Given the description of an element on the screen output the (x, y) to click on. 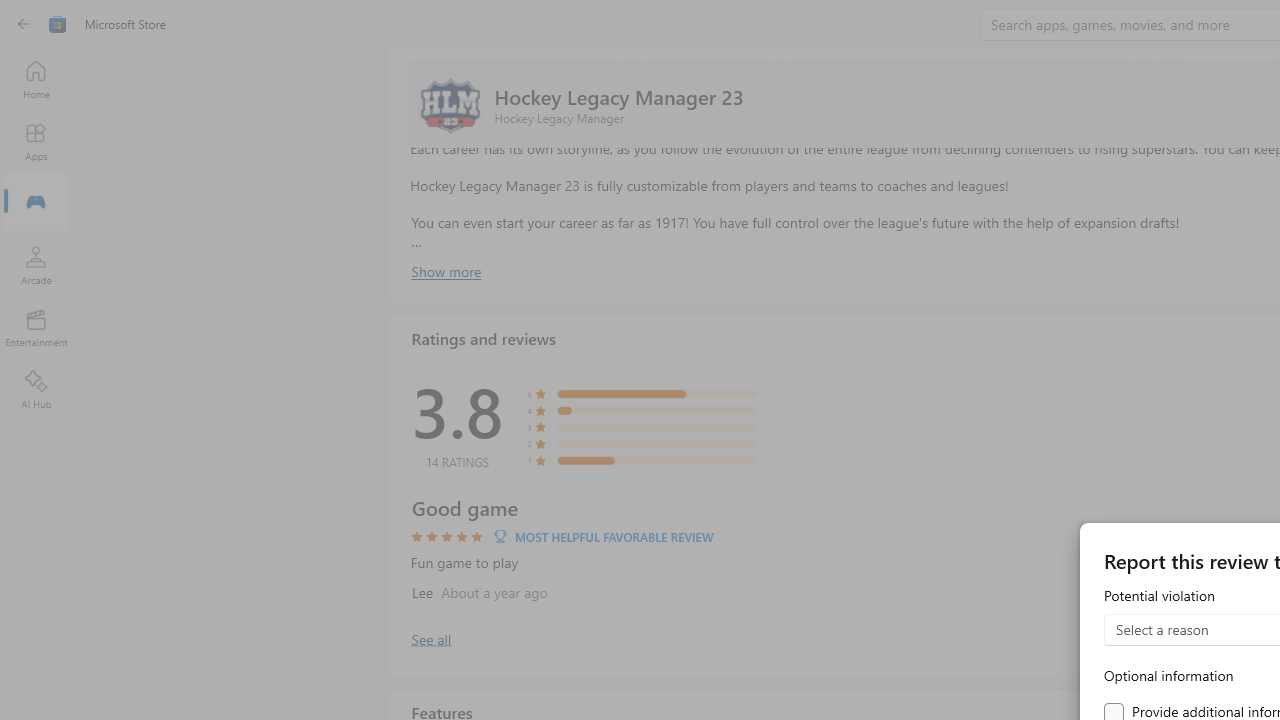
Show more (445, 271)
Back (24, 24)
Show all ratings and reviews (430, 637)
